Given the description of an element on the screen output the (x, y) to click on. 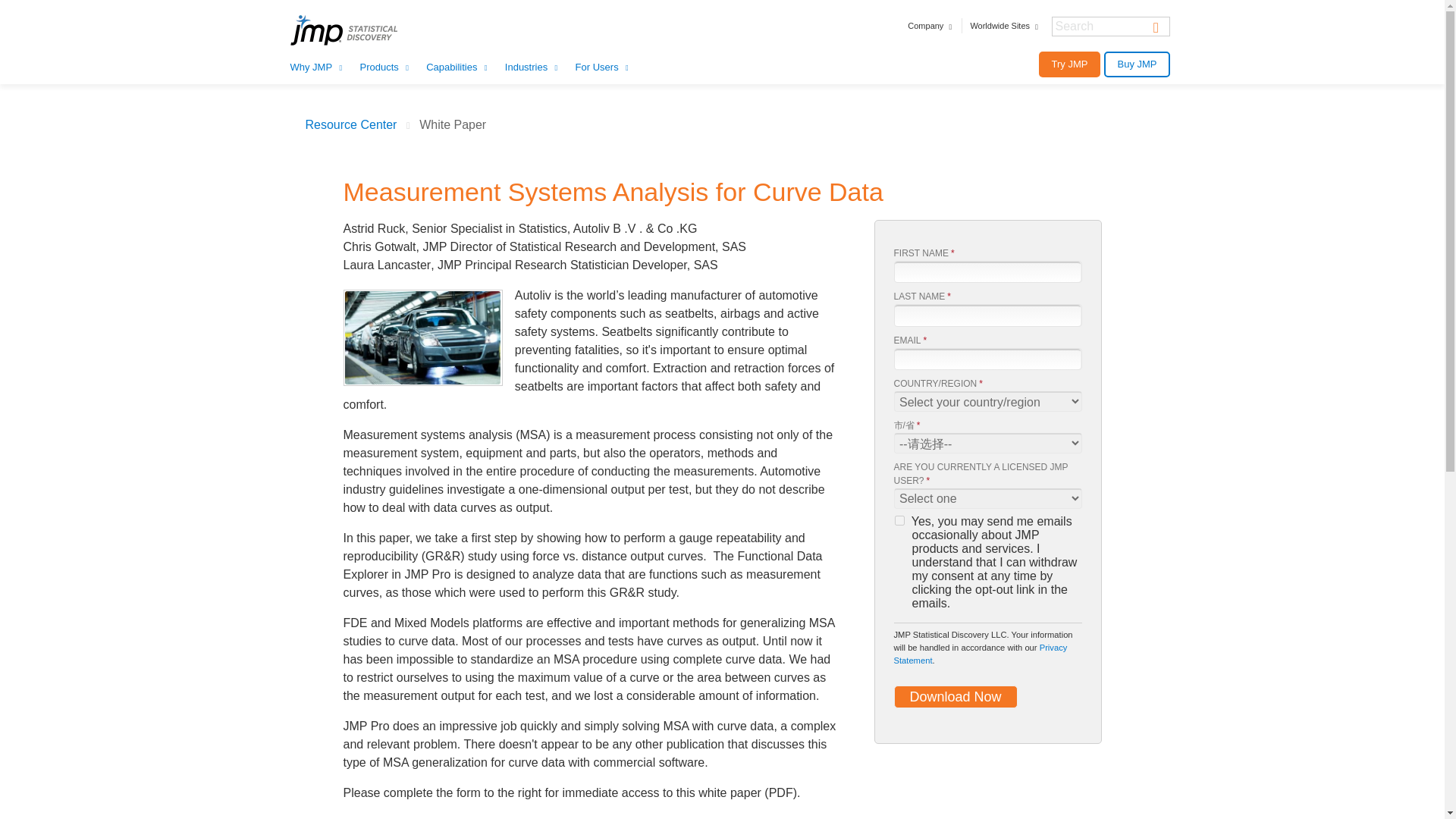
Download Now (954, 696)
JMP Statistical Discovery (362, 30)
Worldwide Sites (1005, 25)
Search (1156, 25)
1 (899, 520)
Search (1156, 25)
Auto Industry (422, 337)
Company (930, 25)
